Given the description of an element on the screen output the (x, y) to click on. 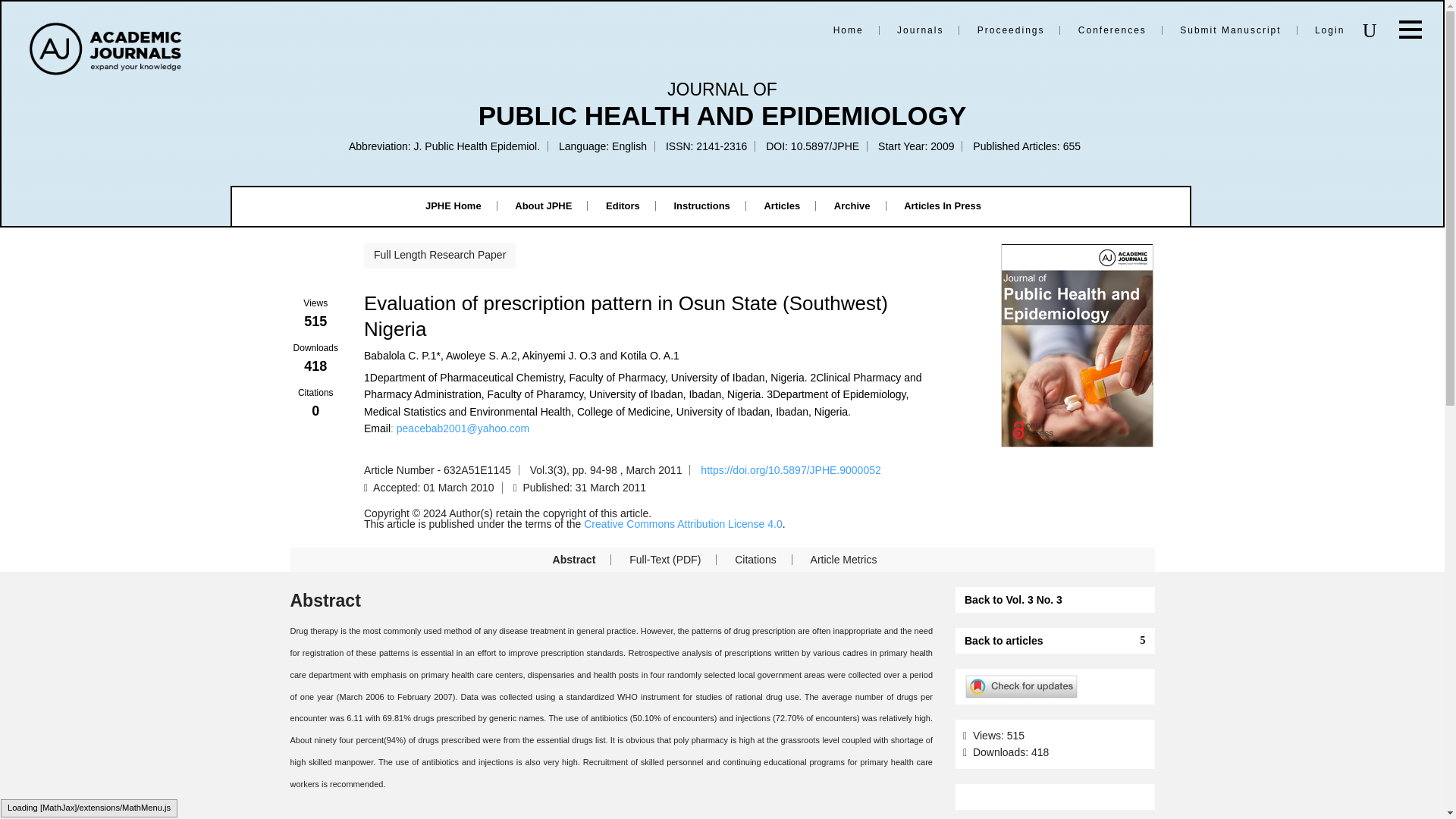
About Journal (543, 205)
CrossRef Citations (315, 403)
Articles in Press (942, 205)
Articles (780, 205)
Editors (622, 205)
JPHE Home (453, 205)
Archive (852, 205)
Instructions for Authors (700, 205)
